Given the description of an element on the screen output the (x, y) to click on. 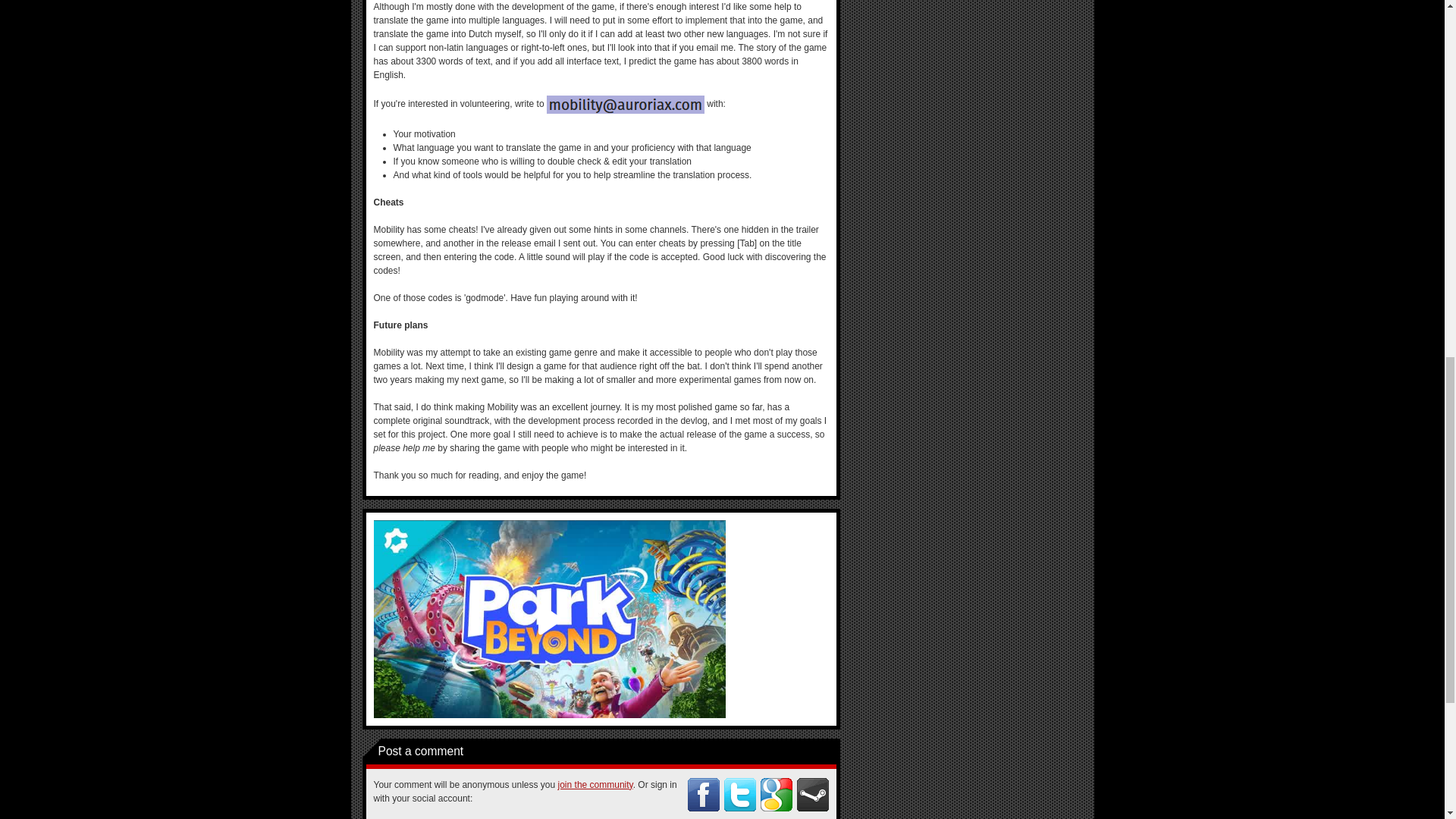
Click to connect via Steam (812, 794)
Click to connect via Twitter (739, 794)
Click to connect via Google (776, 794)
